Given the description of an element on the screen output the (x, y) to click on. 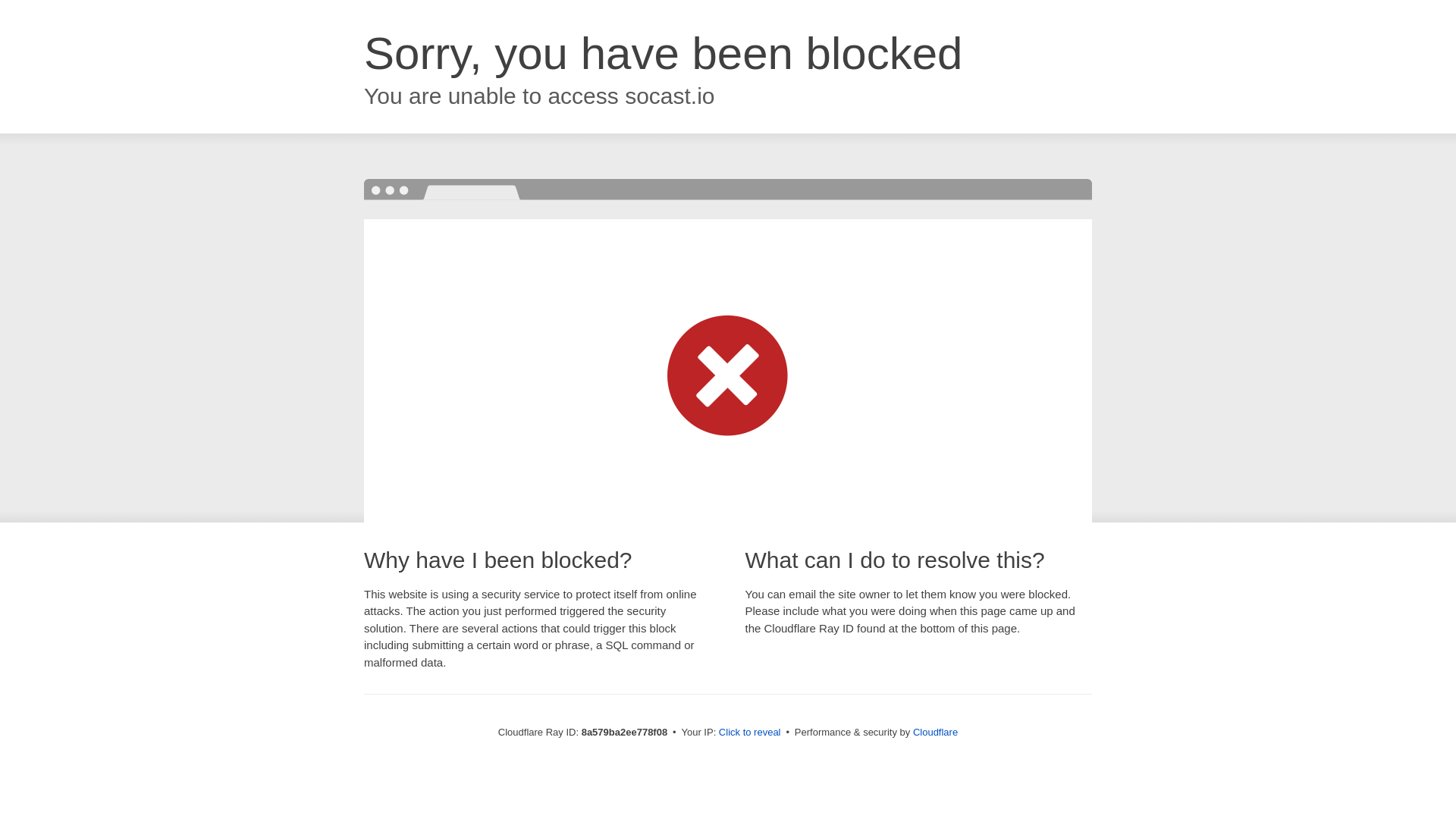
Cloudflare (935, 731)
Click to reveal (749, 732)
